Given the description of an element on the screen output the (x, y) to click on. 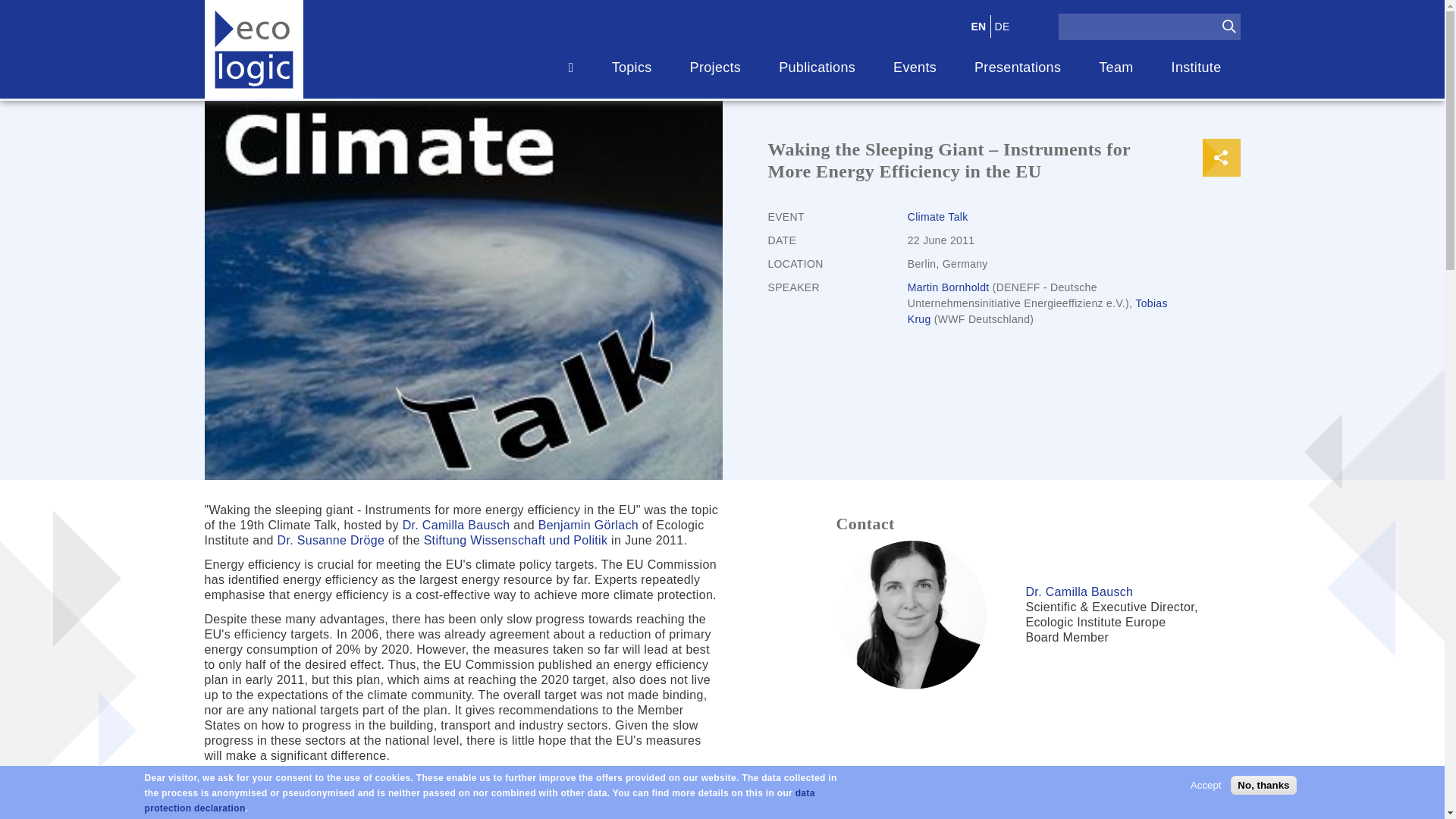
Team (1115, 67)
Home (253, 49)
Publications (817, 67)
Events (915, 67)
Presentations (1017, 67)
Share to Facebook (1221, 157)
Apply filter (1228, 26)
Topics (631, 67)
Projects (715, 67)
